Given the description of an element on the screen output the (x, y) to click on. 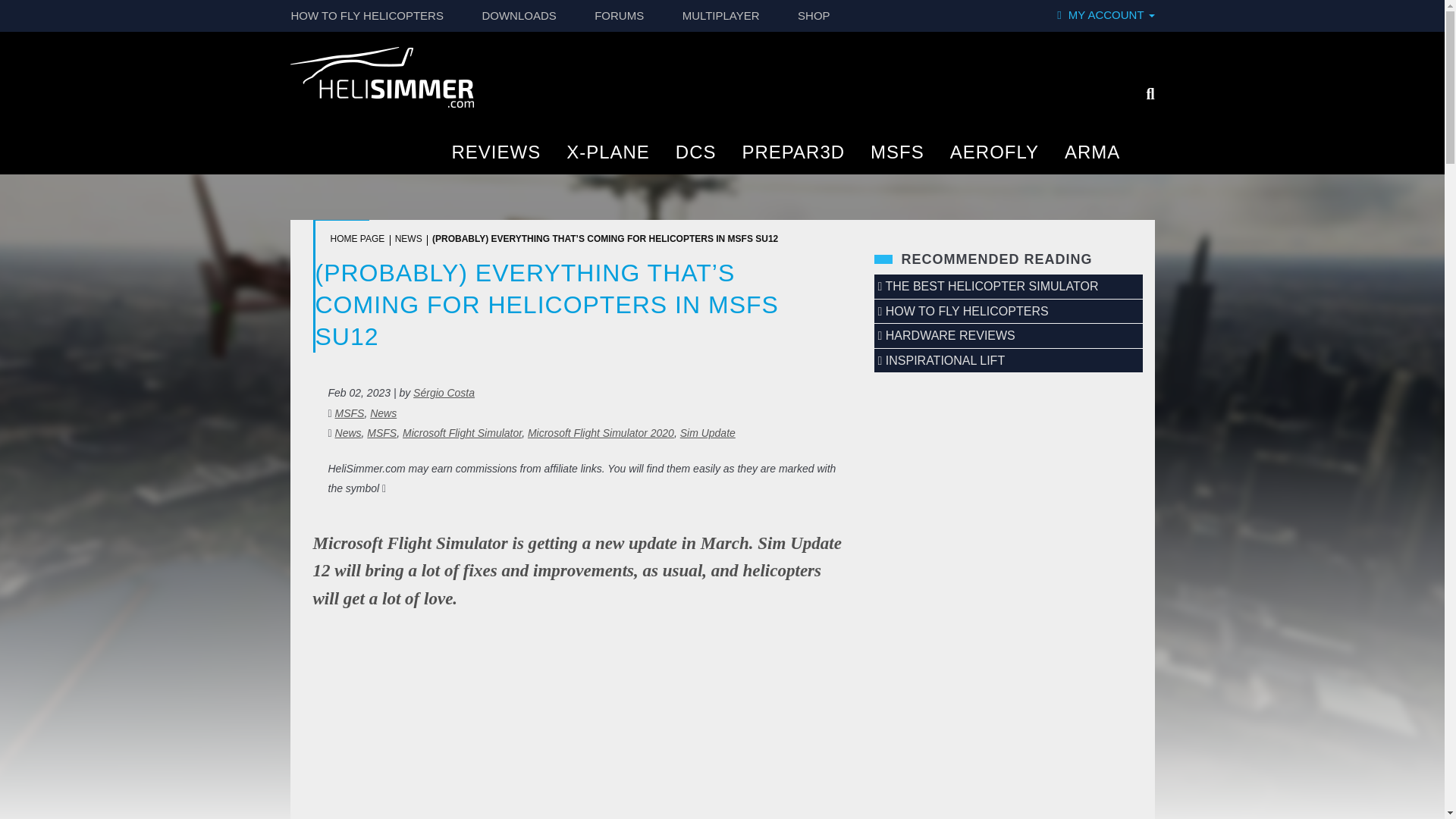
REVIEWS (496, 157)
DOWNLOADS (518, 15)
MSFS (897, 157)
DCS (695, 157)
MULTIPLAYER (721, 15)
X-PLANE (608, 157)
SHOP (813, 15)
Advertisement (578, 732)
MY ACCOUNT (1105, 15)
FORUMS (618, 15)
HOW TO FLY HELICOPTERS (367, 15)
Advertisement (1007, 747)
PREPAR3D (794, 157)
Advertisement (1007, 546)
